Given the description of an element on the screen output the (x, y) to click on. 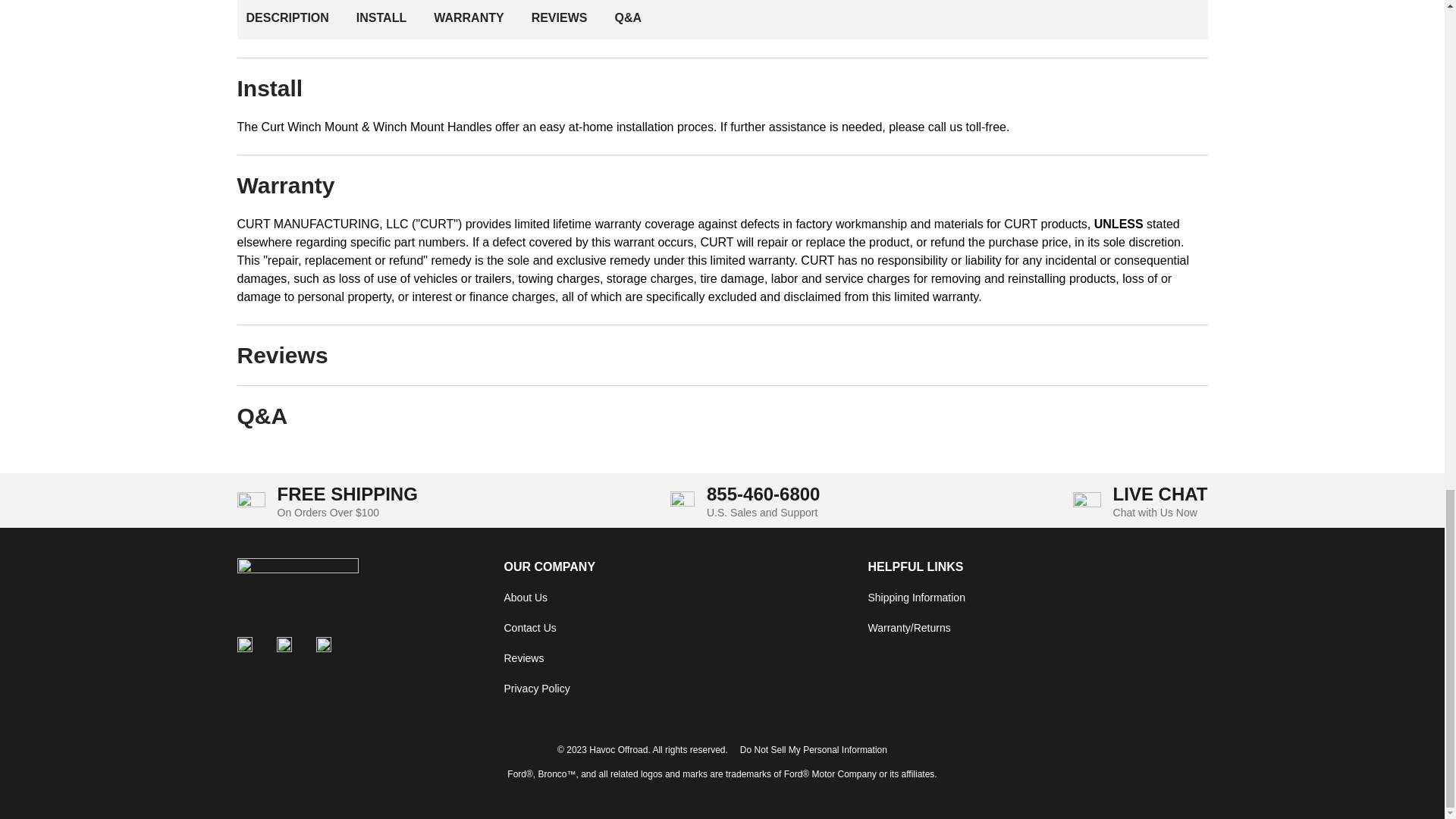
Contact Us (529, 627)
About Us (525, 597)
LIVE CHAT (1160, 494)
Do Not Sell My Personal Information (812, 749)
Chat with Us Now (1154, 512)
Reviews (523, 657)
Shipping Information (915, 597)
U.S. Sales and Support (761, 512)
855-460-6800 (762, 494)
Privacy Policy (536, 688)
